Given the description of an element on the screen output the (x, y) to click on. 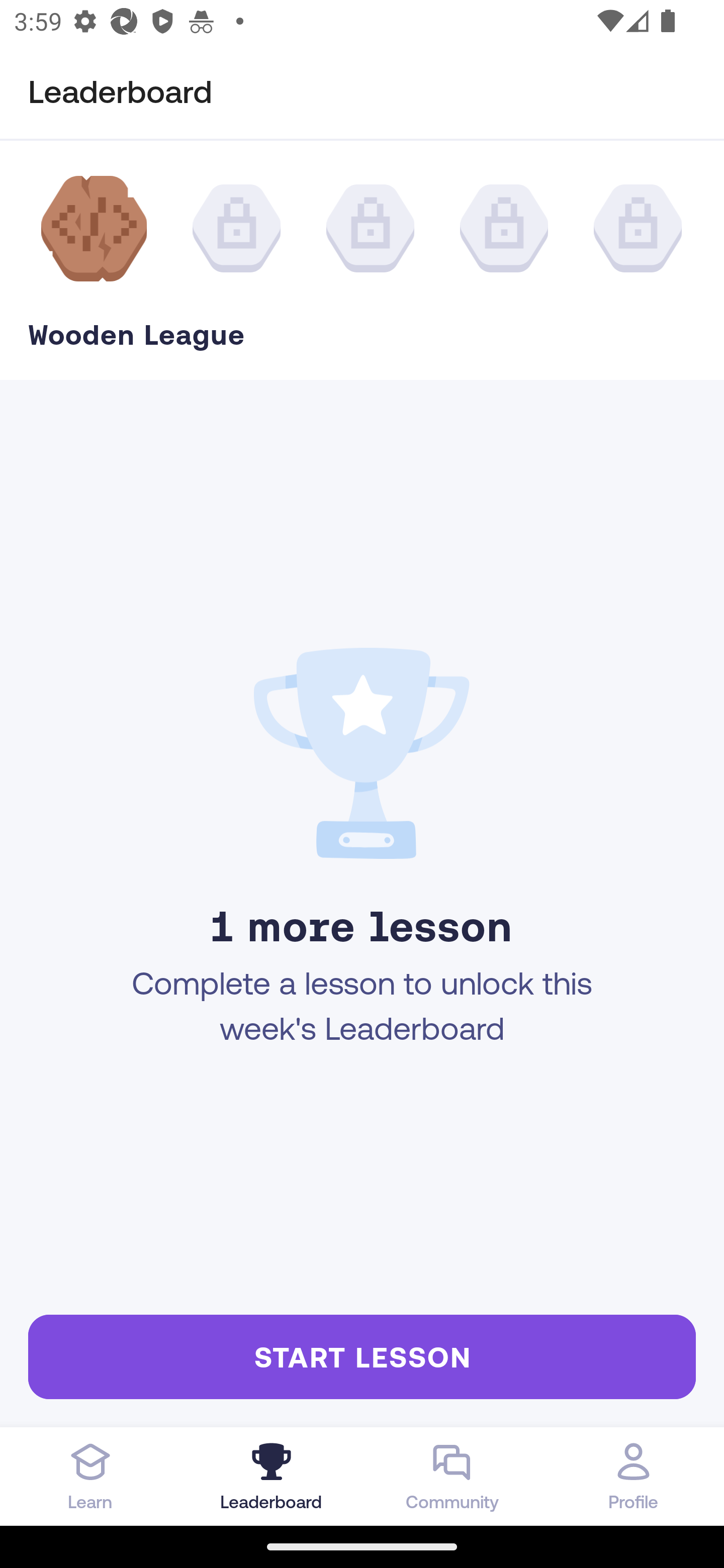
START LESSON (361, 1355)
Learn (90, 1475)
Community (452, 1475)
Profile (633, 1475)
